Given the description of an element on the screen output the (x, y) to click on. 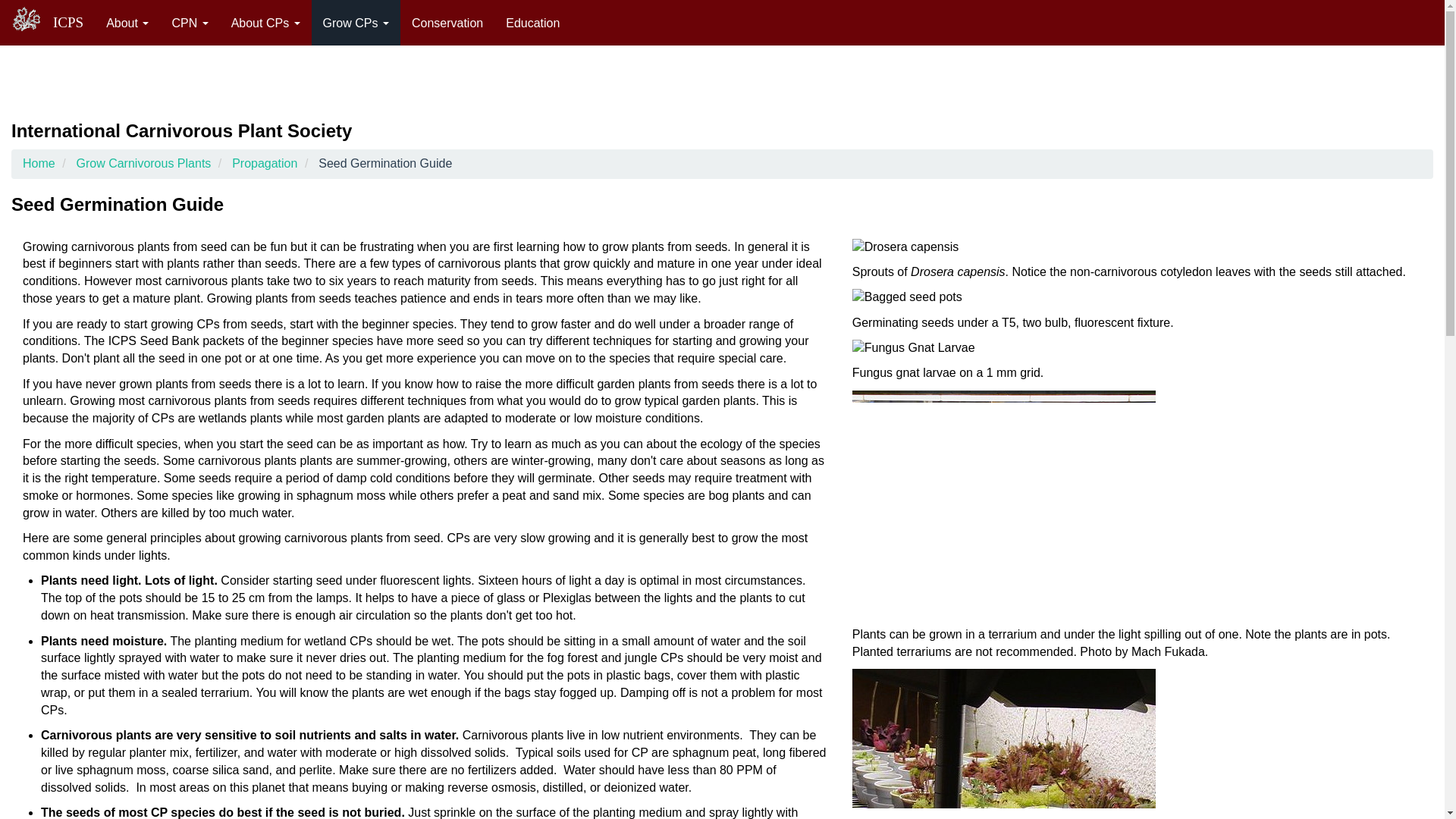
Home (31, 18)
Home (68, 22)
For Teachers and Students (532, 22)
ICPS (68, 22)
ICPS Conservation Projects (447, 22)
About CPs (265, 22)
About Carnivorous Plants (265, 22)
About (127, 22)
Carnivorous Plant Newsletter (189, 22)
Grow Carnivorous Plants (355, 22)
